Given the description of an element on the screen output the (x, y) to click on. 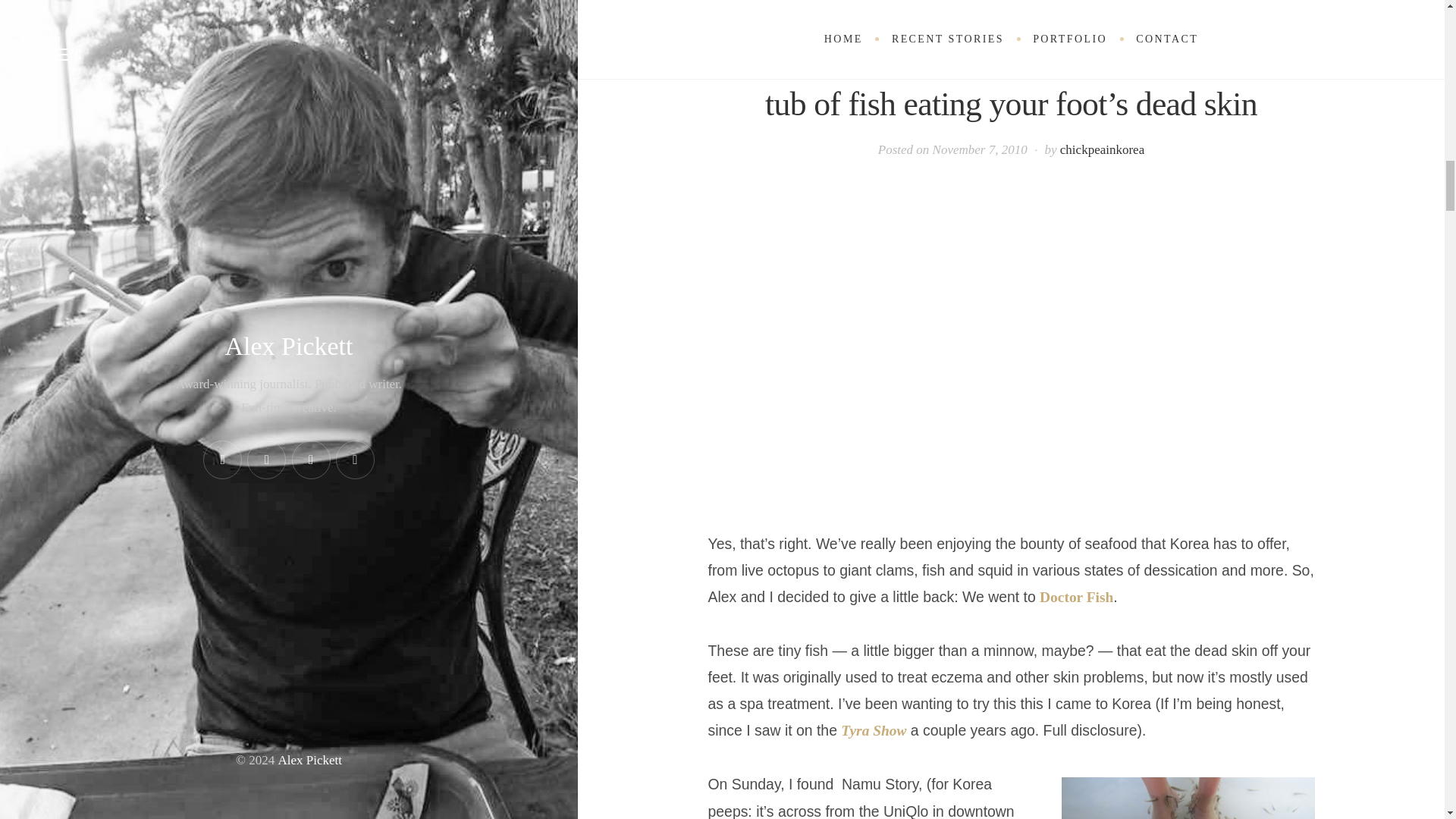
Dr Fish (1187, 798)
